Given the description of an element on the screen output the (x, y) to click on. 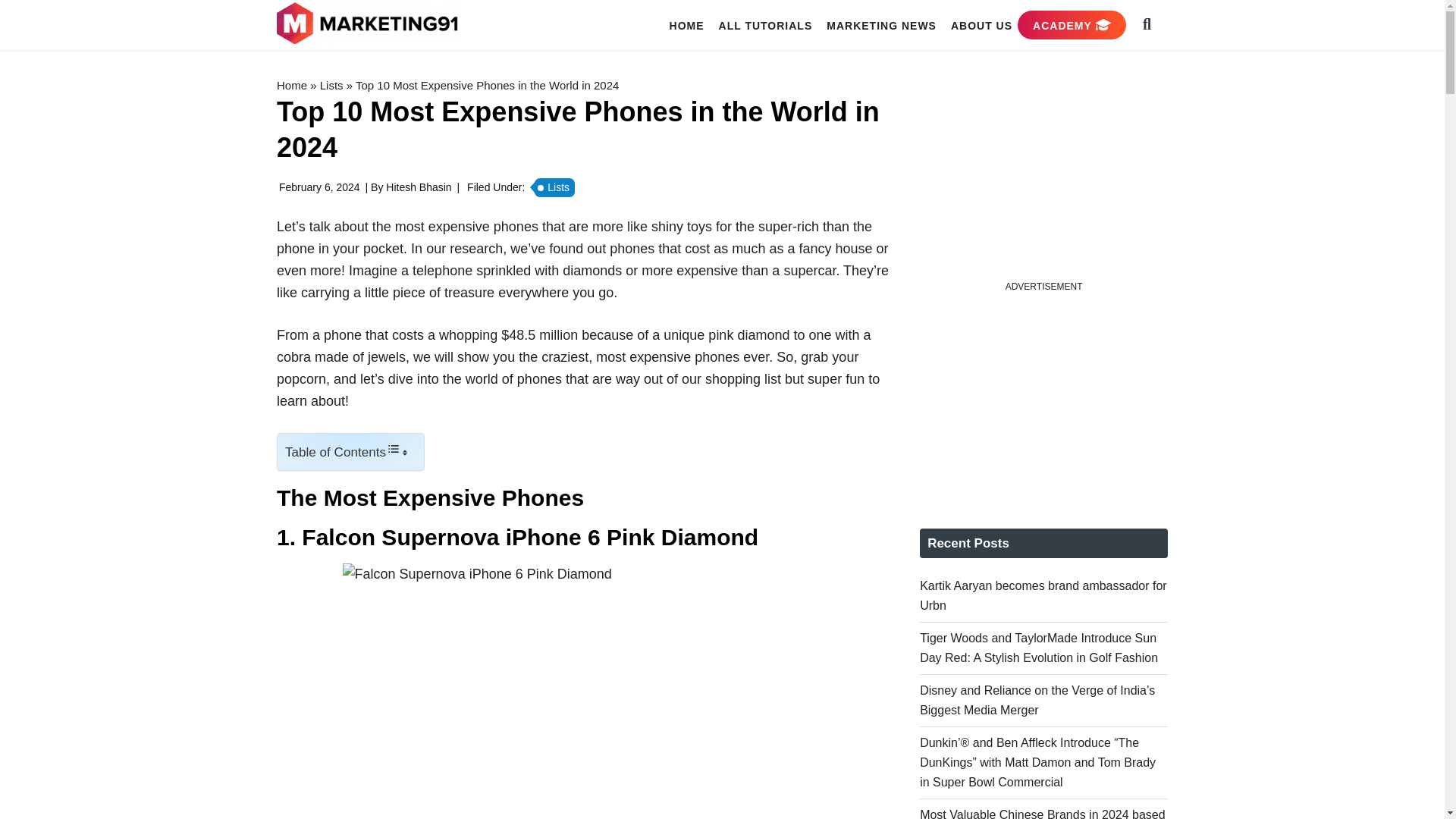
ALL TUTORIALS (766, 24)
HOME (687, 24)
MARKETING91 (369, 24)
